Given the description of an element on the screen output the (x, y) to click on. 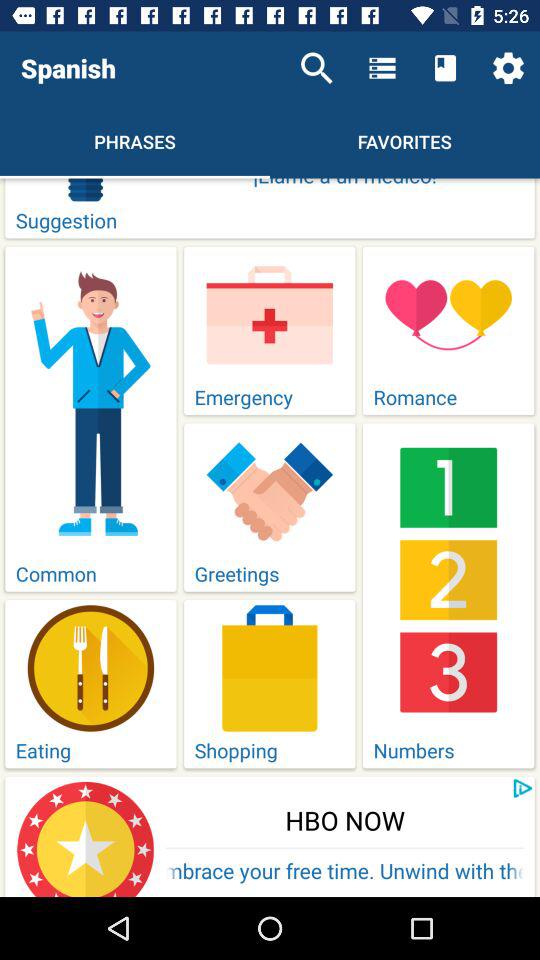
turn on the icon above favorites (444, 67)
